Given the description of an element on the screen output the (x, y) to click on. 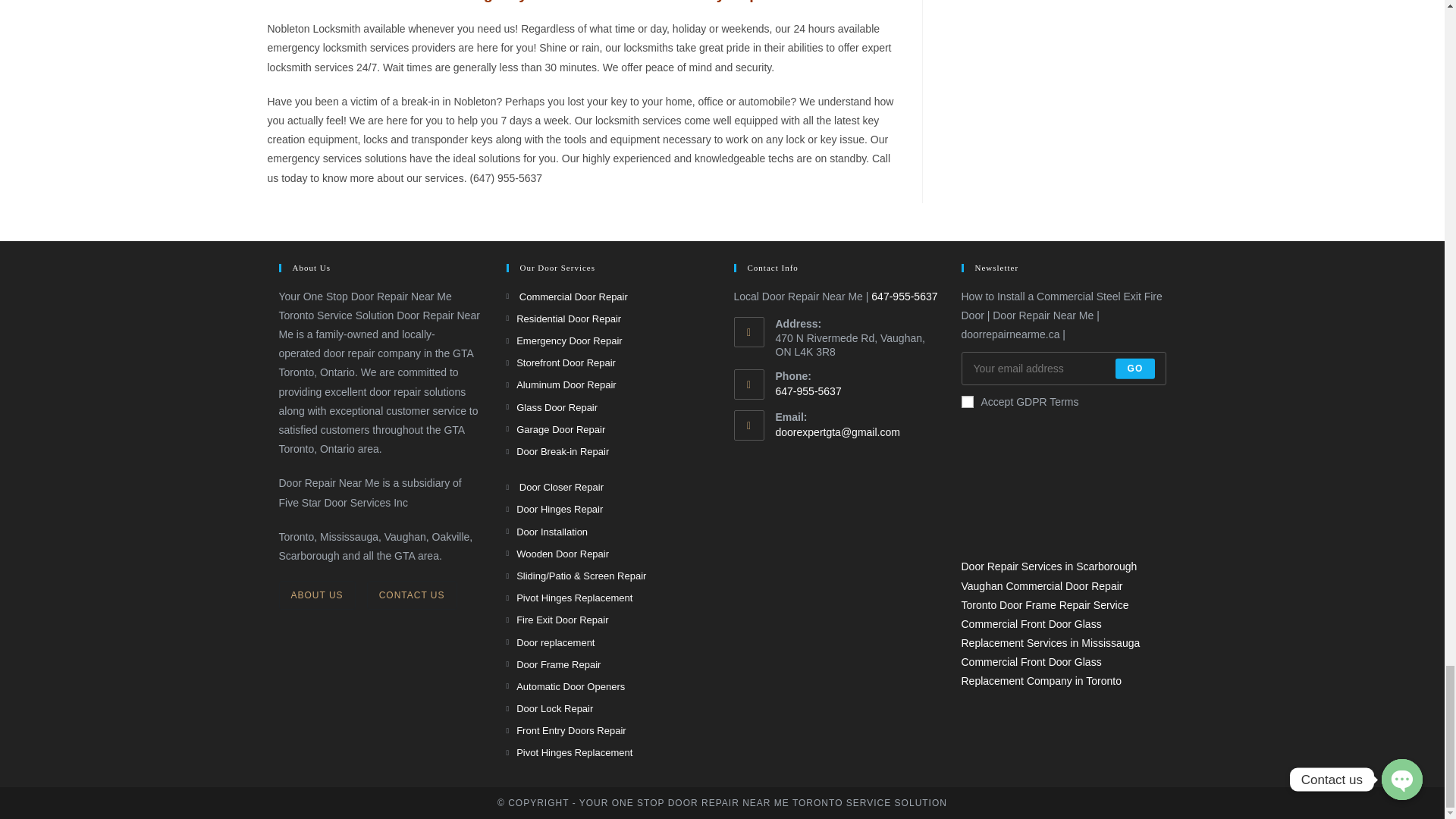
1 (967, 401)
